Given the description of an element on the screen output the (x, y) to click on. 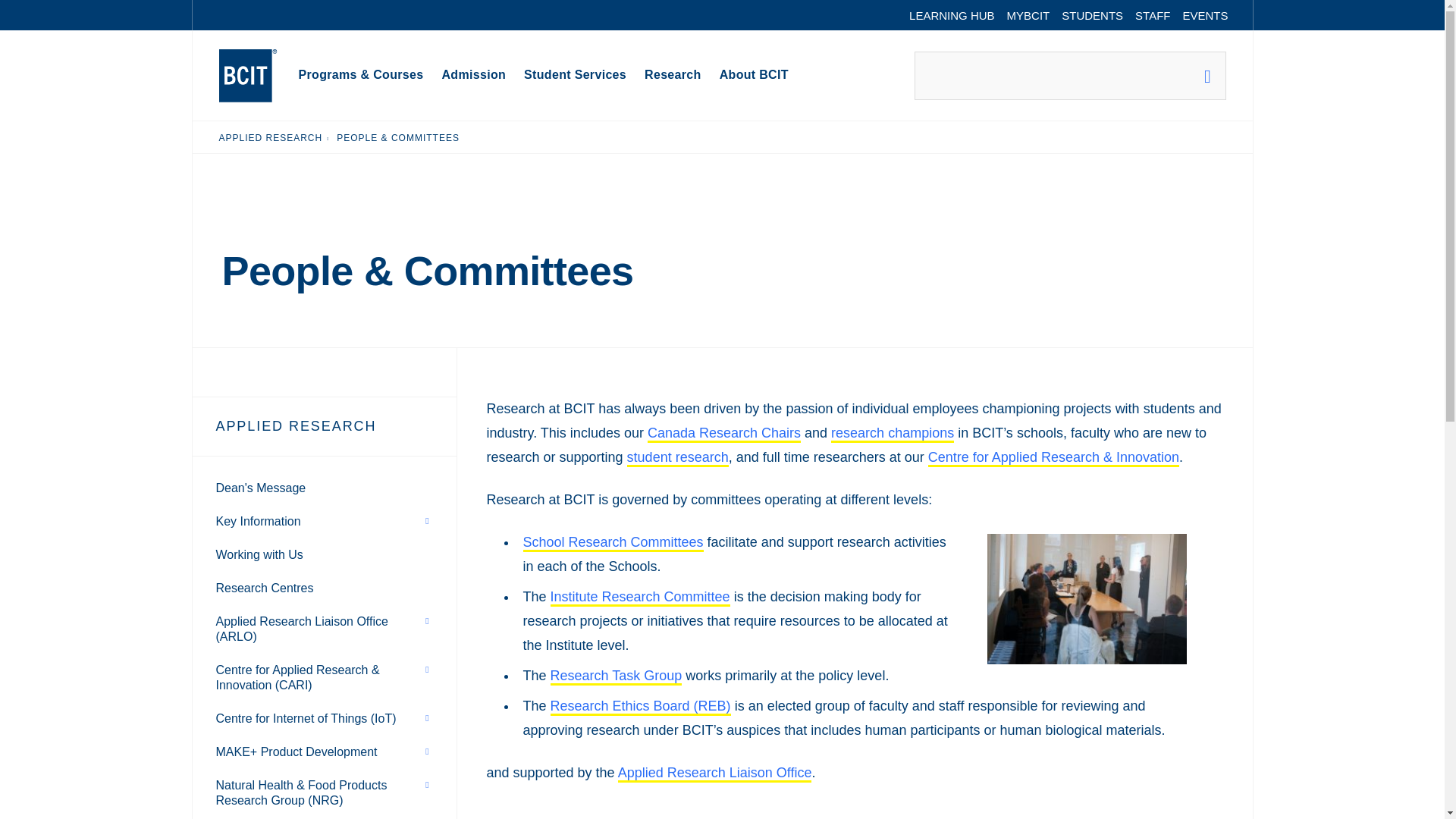
Admission (473, 75)
Applied Research (270, 137)
MYBCIT (1029, 15)
STUDENTS (1092, 15)
LEARNING HUB (951, 15)
STAFF (1152, 15)
Student Services (574, 75)
EVENTS (1204, 15)
